Given the description of an element on the screen output the (x, y) to click on. 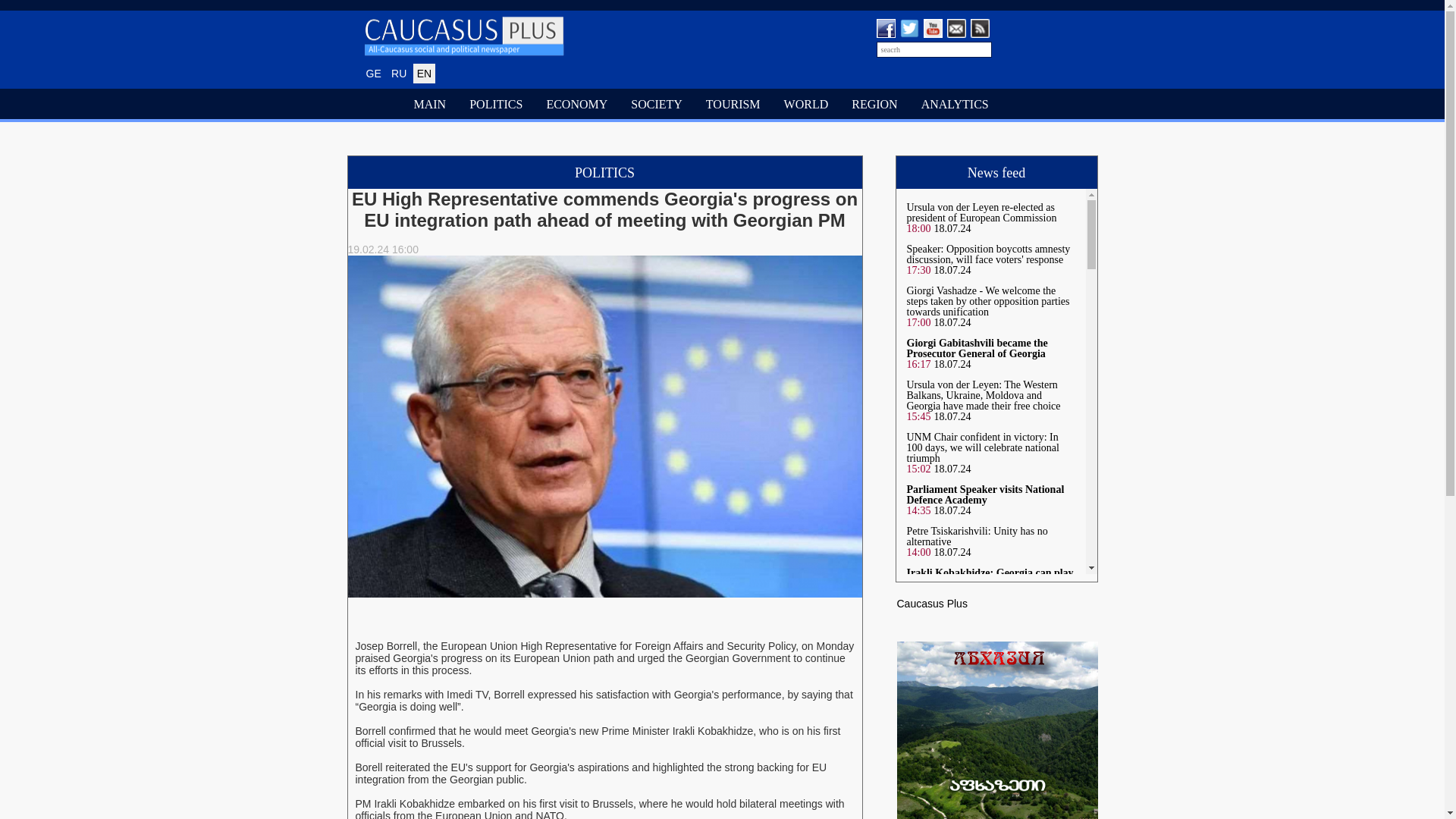
seacrh (933, 49)
MAIN (429, 105)
EN (424, 73)
TOURISM (733, 105)
ANALYTICS (955, 105)
Giorgi Gabitashvili became the Prosecutor General of Georgia (977, 348)
GE (373, 73)
Lelo party, Ana Dolidze and Freedom Square unite (987, 682)
SOCIETY (656, 105)
ECONOMY (577, 105)
